Given the description of an element on the screen output the (x, y) to click on. 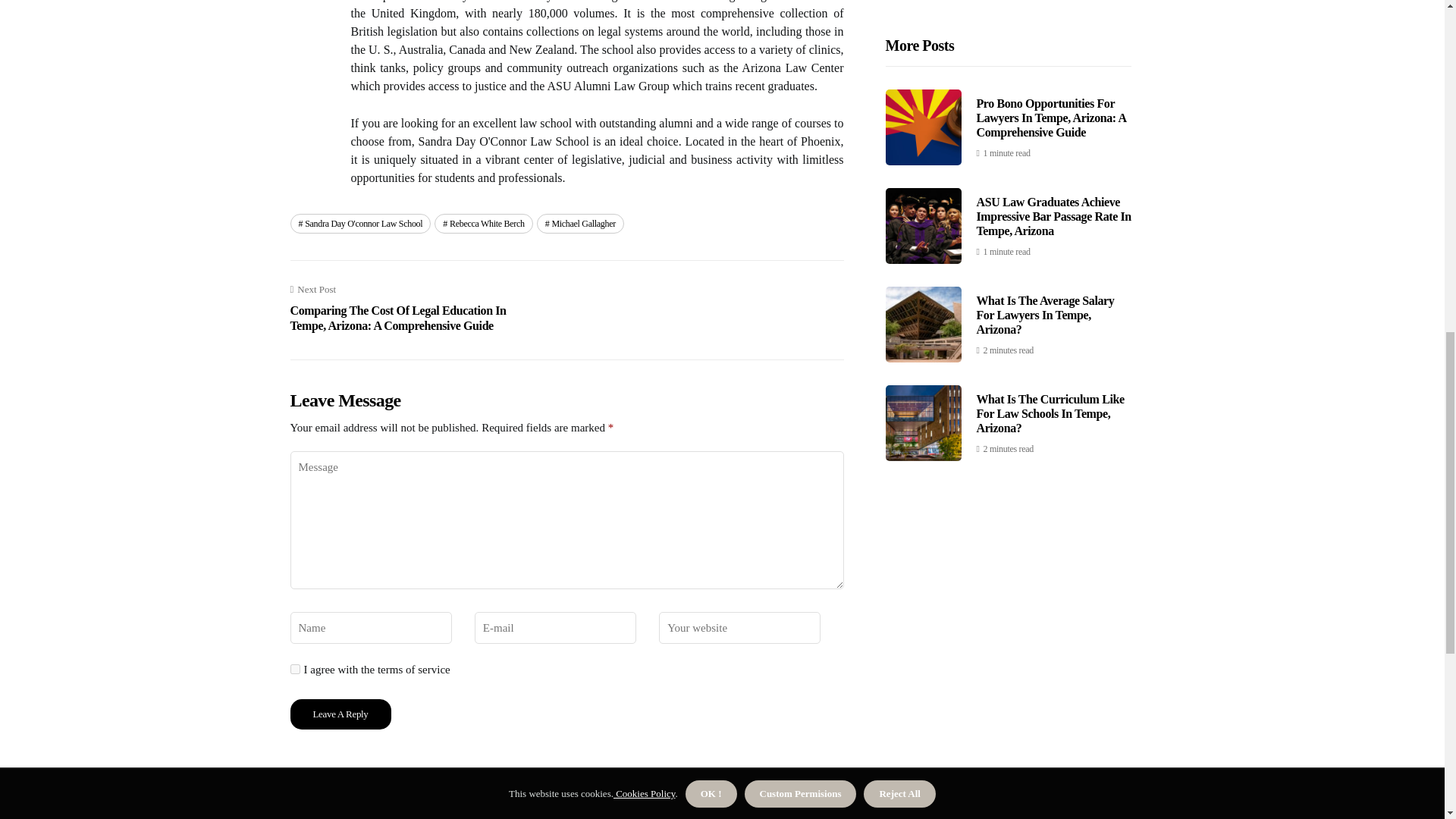
Michael Gallagher (580, 223)
Sandra Day O'Connor Law School (359, 223)
Rebecca White Berch (482, 223)
Leave a Reply (339, 714)
Leave a Reply (339, 714)
yes (294, 669)
What Is The Average Salary For Lawyers In Tempe, Arizona? (1045, 5)
